Given the description of an element on the screen output the (x, y) to click on. 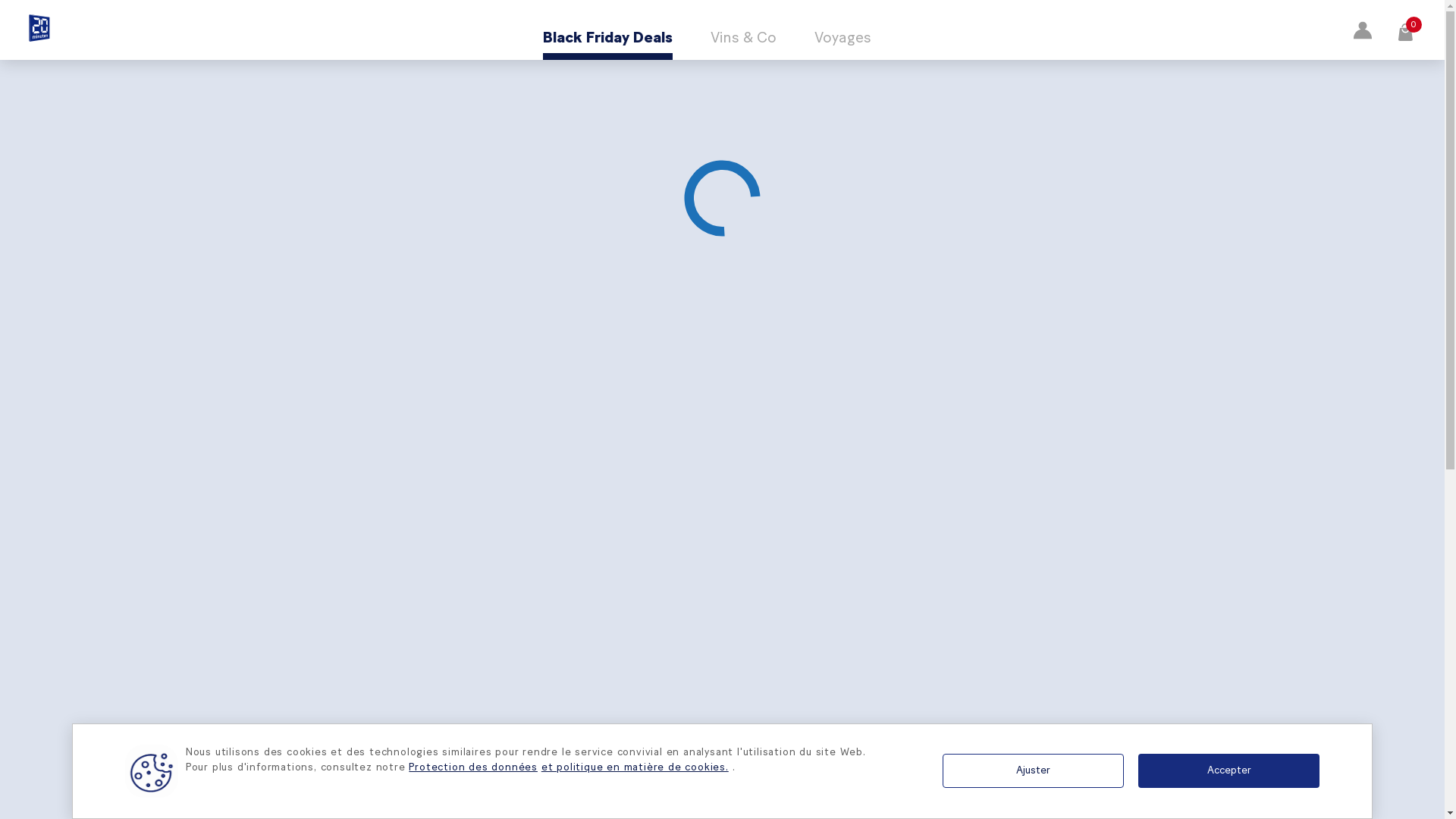
Accepter Element type: text (1228, 770)
Vins & Co Element type: text (743, 37)
Black Friday Deals Element type: text (607, 37)
Voyages Element type: text (842, 37)
Ajuster Element type: text (1032, 770)
